Given the description of an element on the screen output the (x, y) to click on. 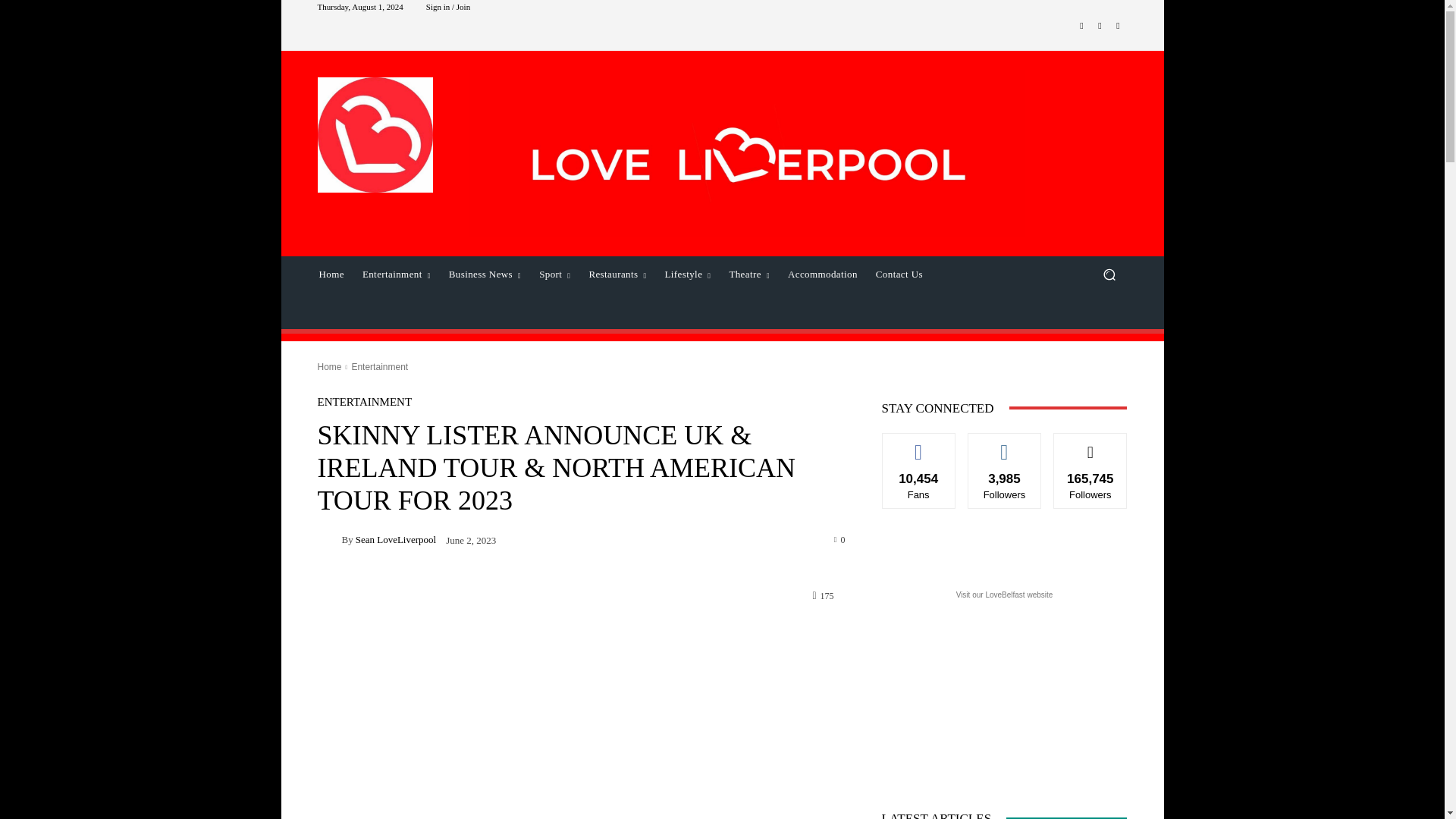
Entertainment (396, 274)
Twitter (1117, 25)
Home (330, 274)
Instagram (1099, 25)
Love Liverpool (374, 134)
Facebook (1080, 25)
